Given the description of an element on the screen output the (x, y) to click on. 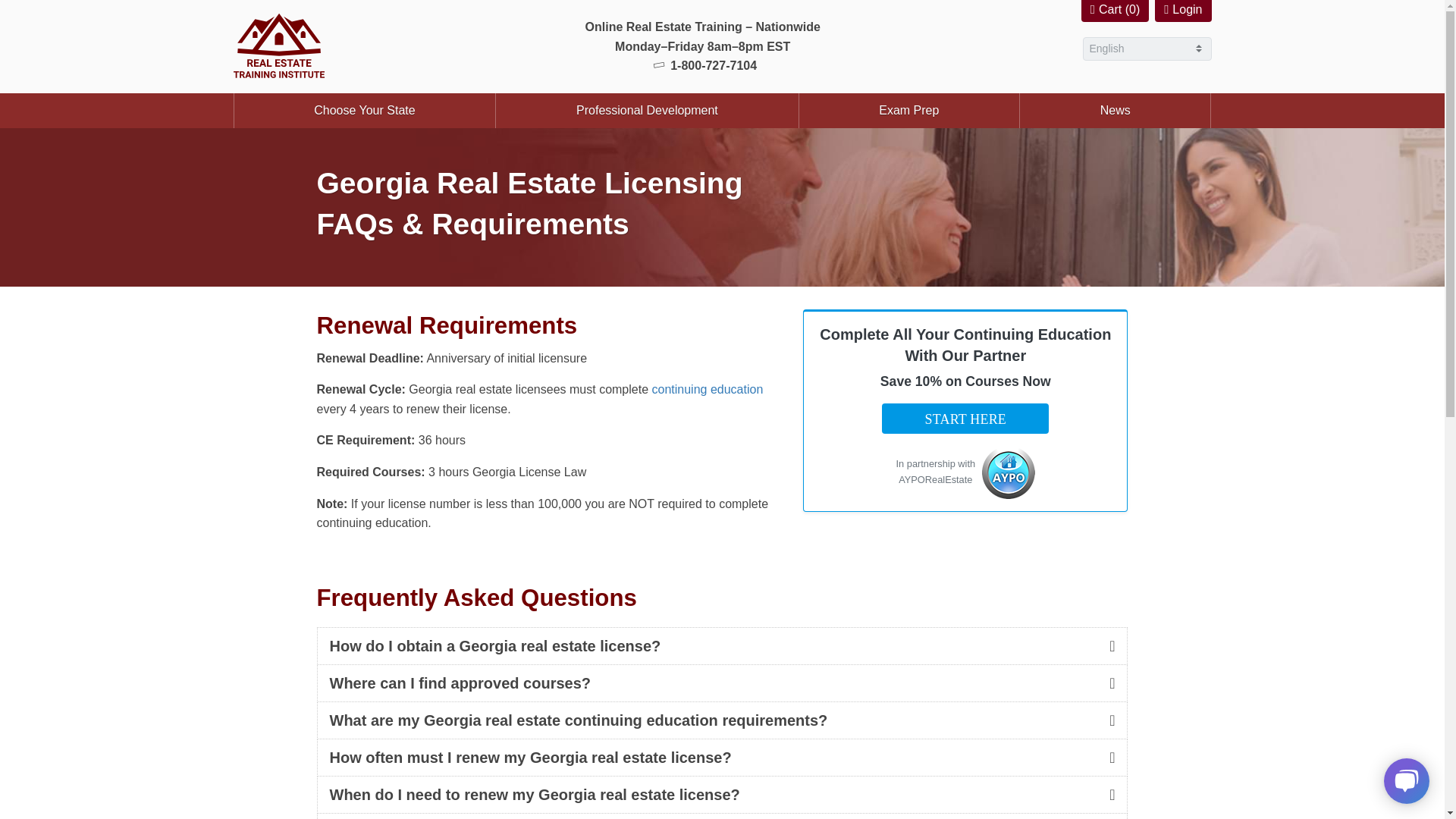
1-800-727-7104 (702, 65)
Login (1182, 11)
